Given the description of an element on the screen output the (x, y) to click on. 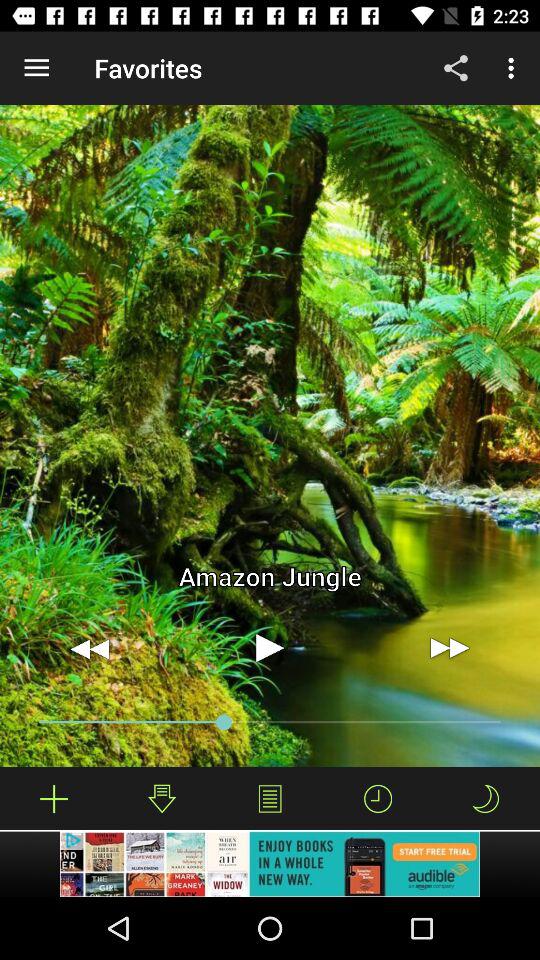
move video backwards (90, 648)
